Given the description of an element on the screen output the (x, y) to click on. 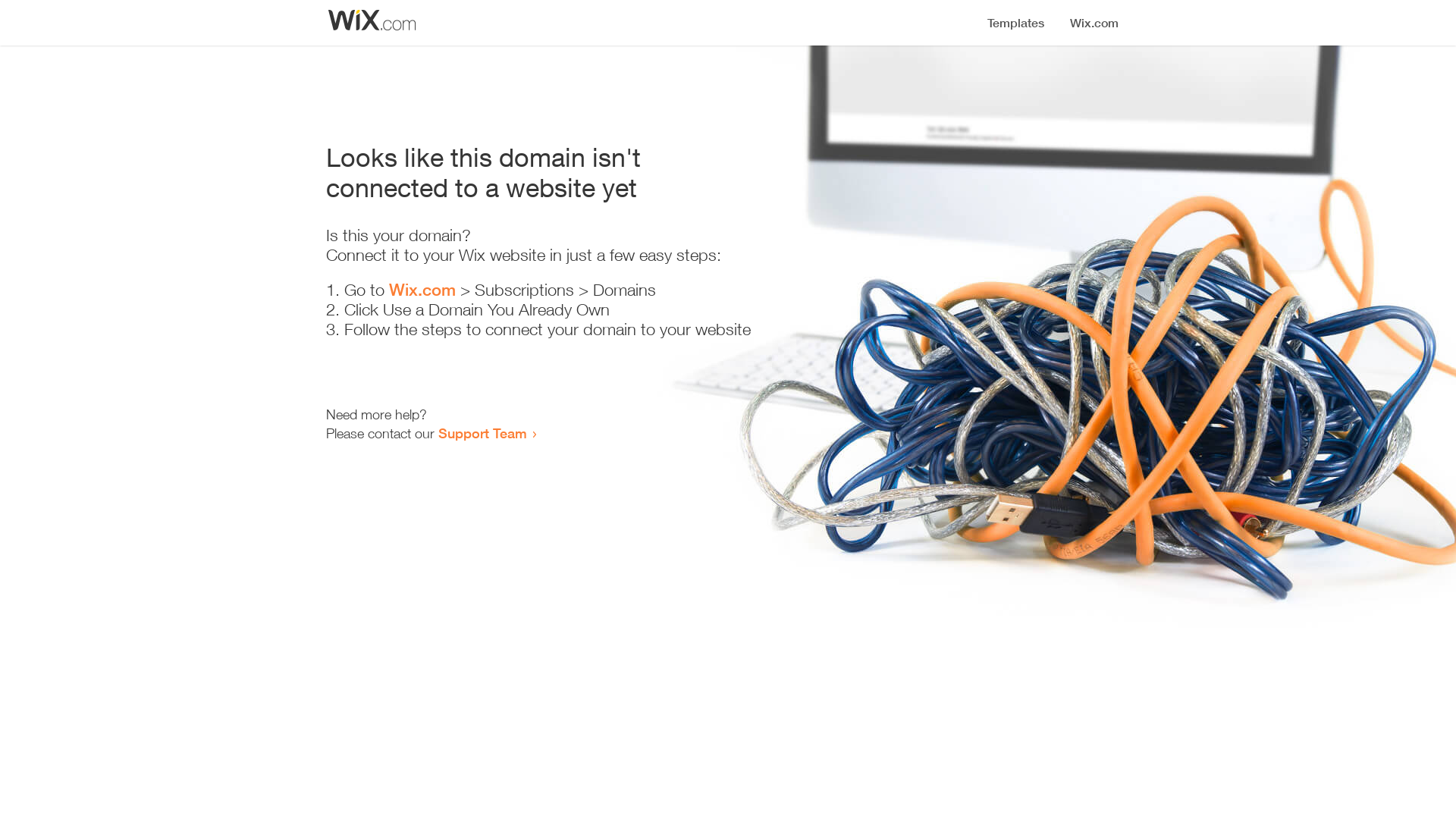
Wix.com Element type: text (422, 289)
Support Team Element type: text (482, 432)
